Given the description of an element on the screen output the (x, y) to click on. 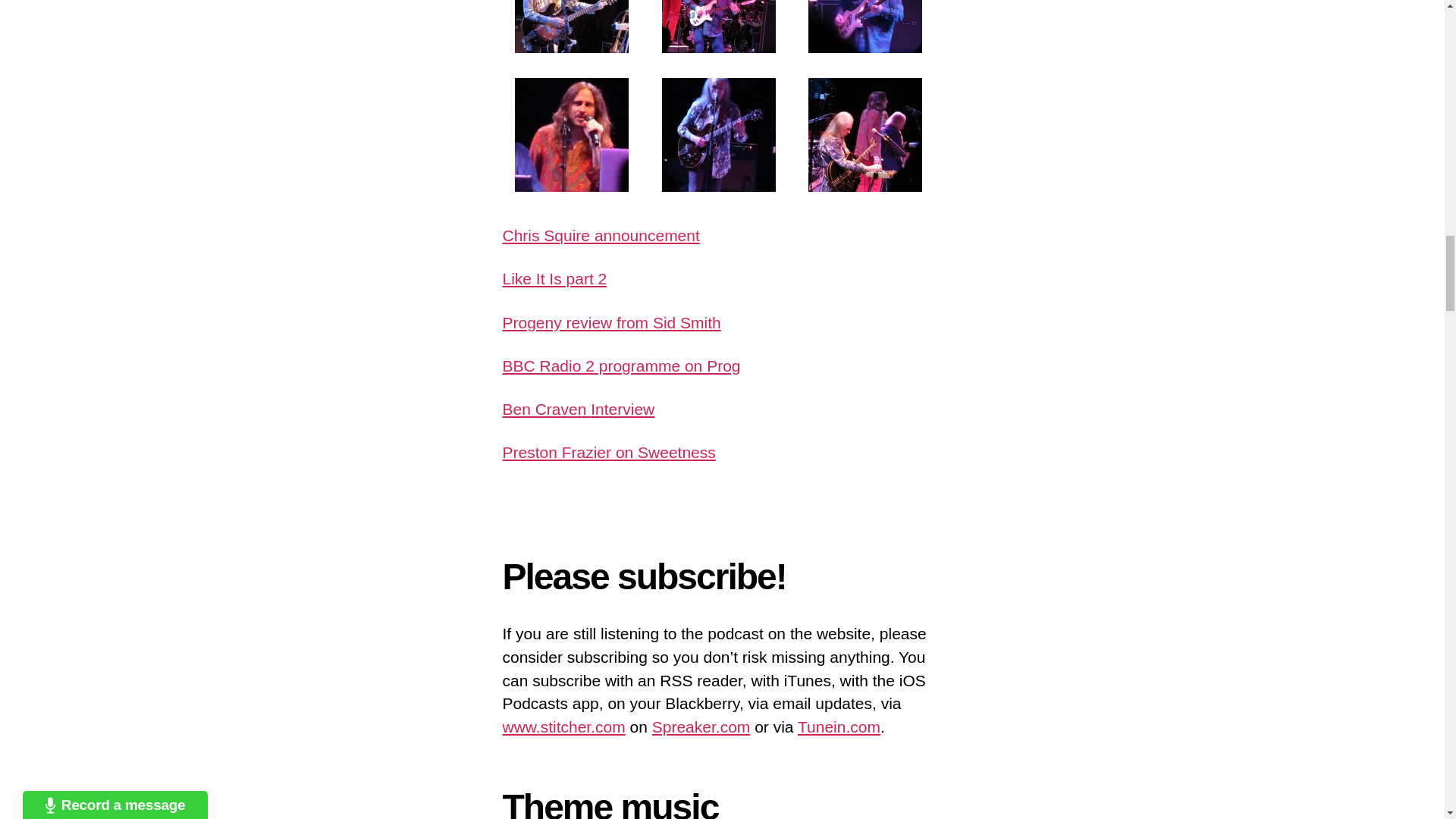
Spreaker (701, 726)
TuneIn (838, 726)
Stitcher.com (563, 726)
